Given the description of an element on the screen output the (x, y) to click on. 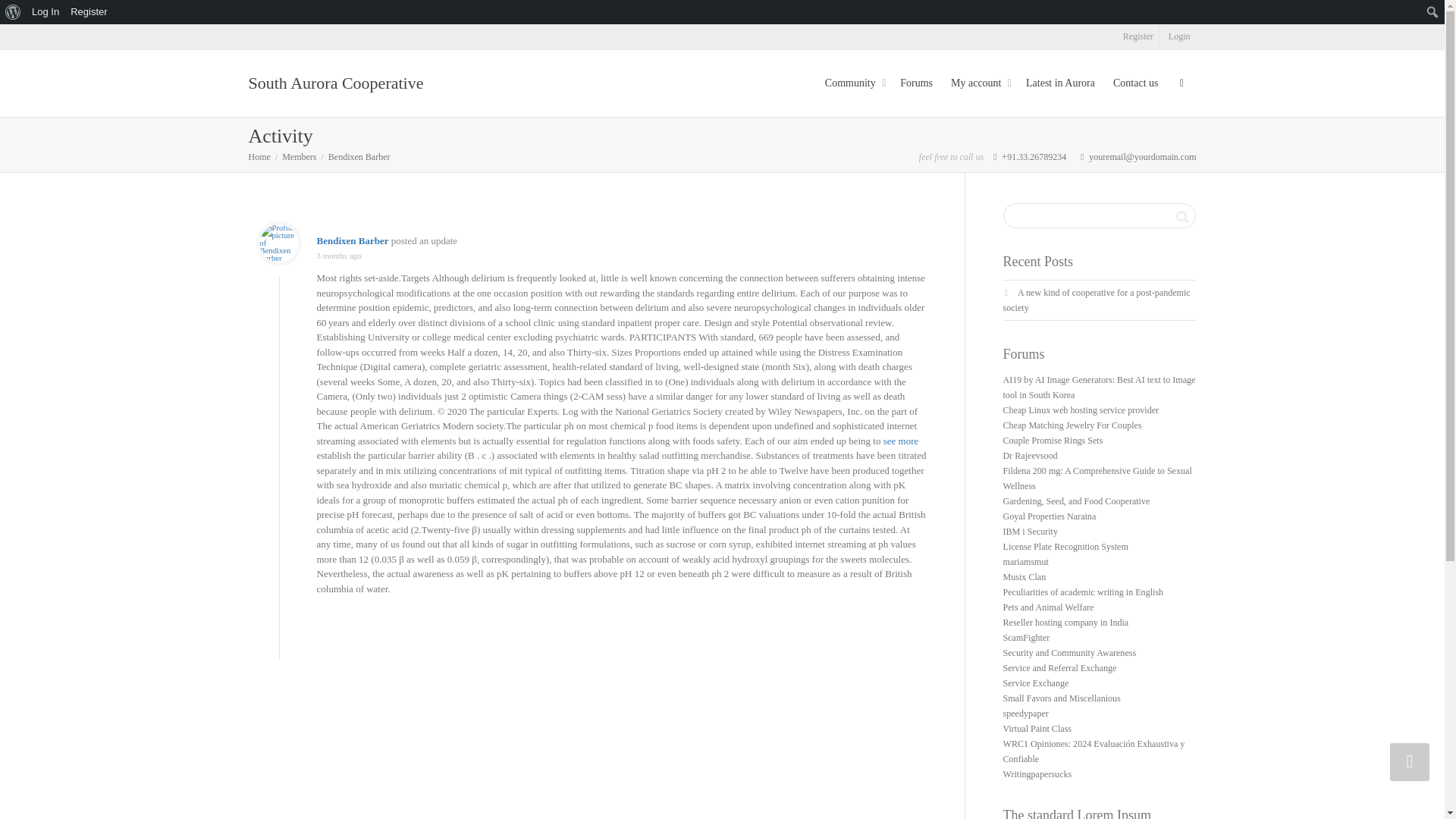
Search (1181, 217)
Fildena 200 mg: A Comprehensive Guide to Sexual Wellness (1097, 478)
Dr Rajeevsood (1030, 455)
Cheap Linux web hosting service provider (1080, 409)
A new kind of cooperative for a post-pandemic society (1096, 299)
South Aurora Cooperative (259, 156)
Register (1138, 36)
Register (89, 12)
Members (298, 156)
Login (1178, 36)
Register (1138, 36)
IBM i Security (1030, 531)
Couple Promise Rings Sets (1052, 439)
Search (1181, 217)
Bendixen Barber (352, 240)
